Given the description of an element on the screen output the (x, y) to click on. 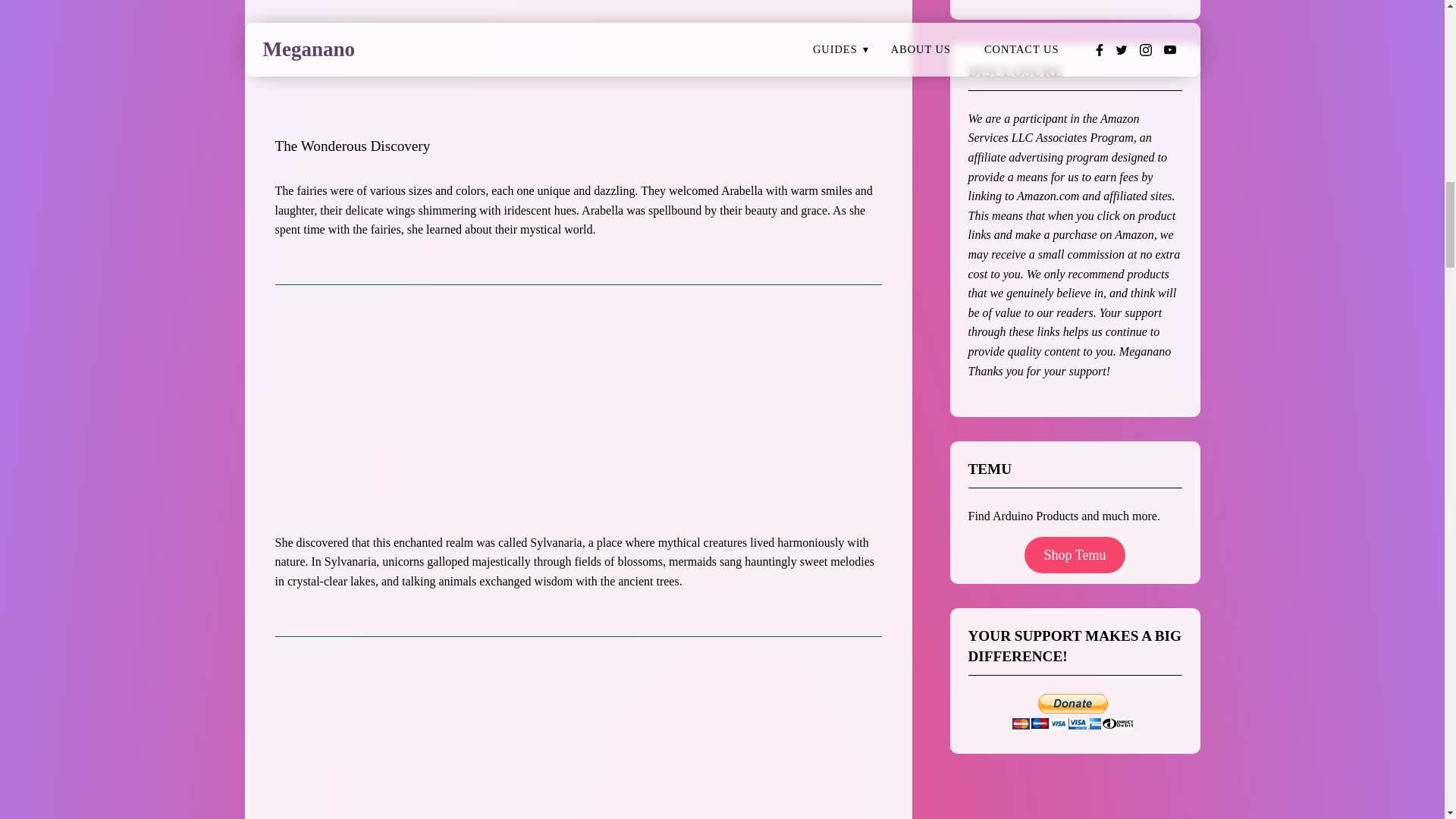
PayPal - The safer, easier way to pay online! (1072, 711)
